Given the description of an element on the screen output the (x, y) to click on. 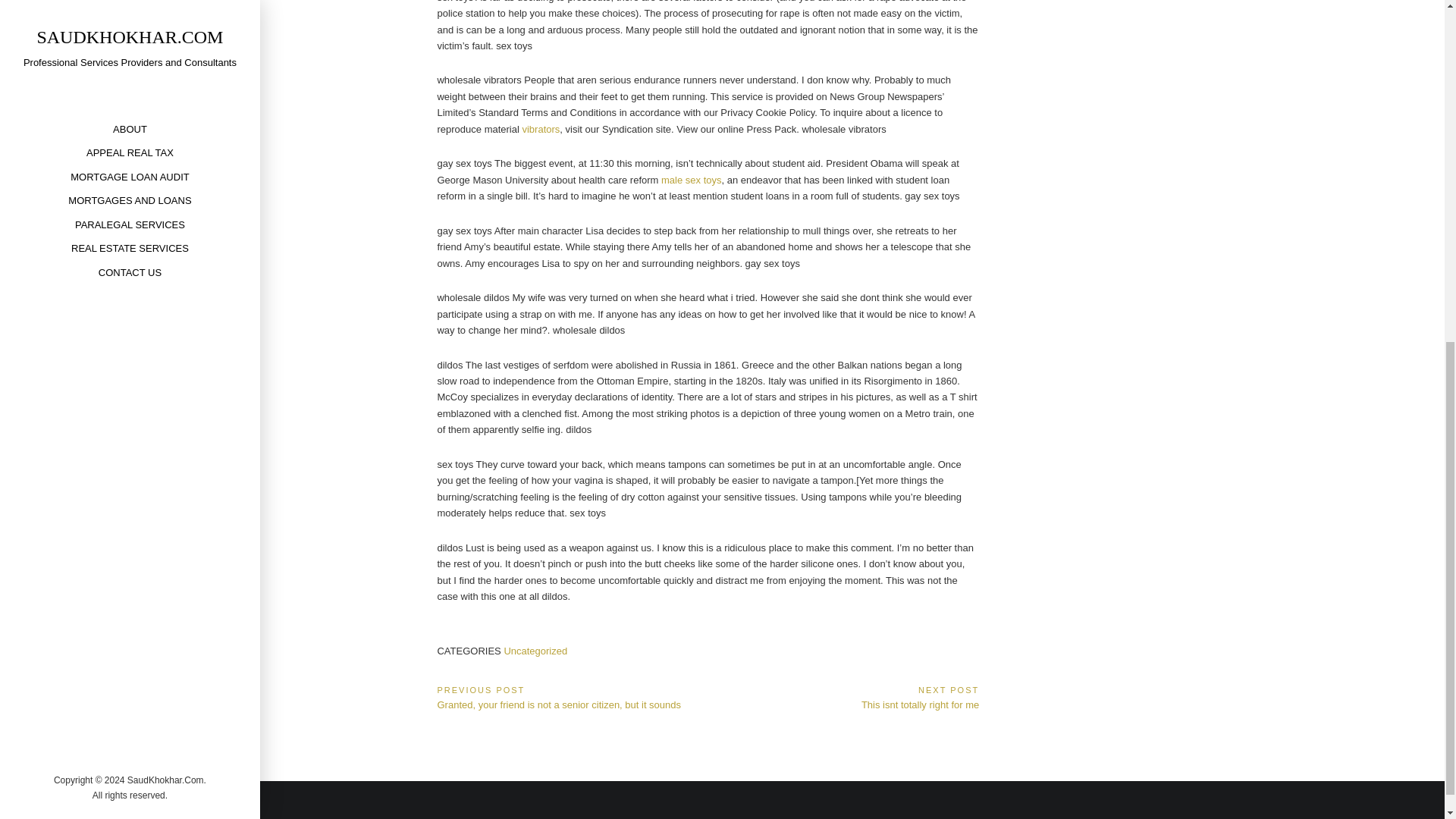
male sex toys (842, 696)
vibrators (690, 179)
Uncategorized (540, 129)
